Given the description of an element on the screen output the (x, y) to click on. 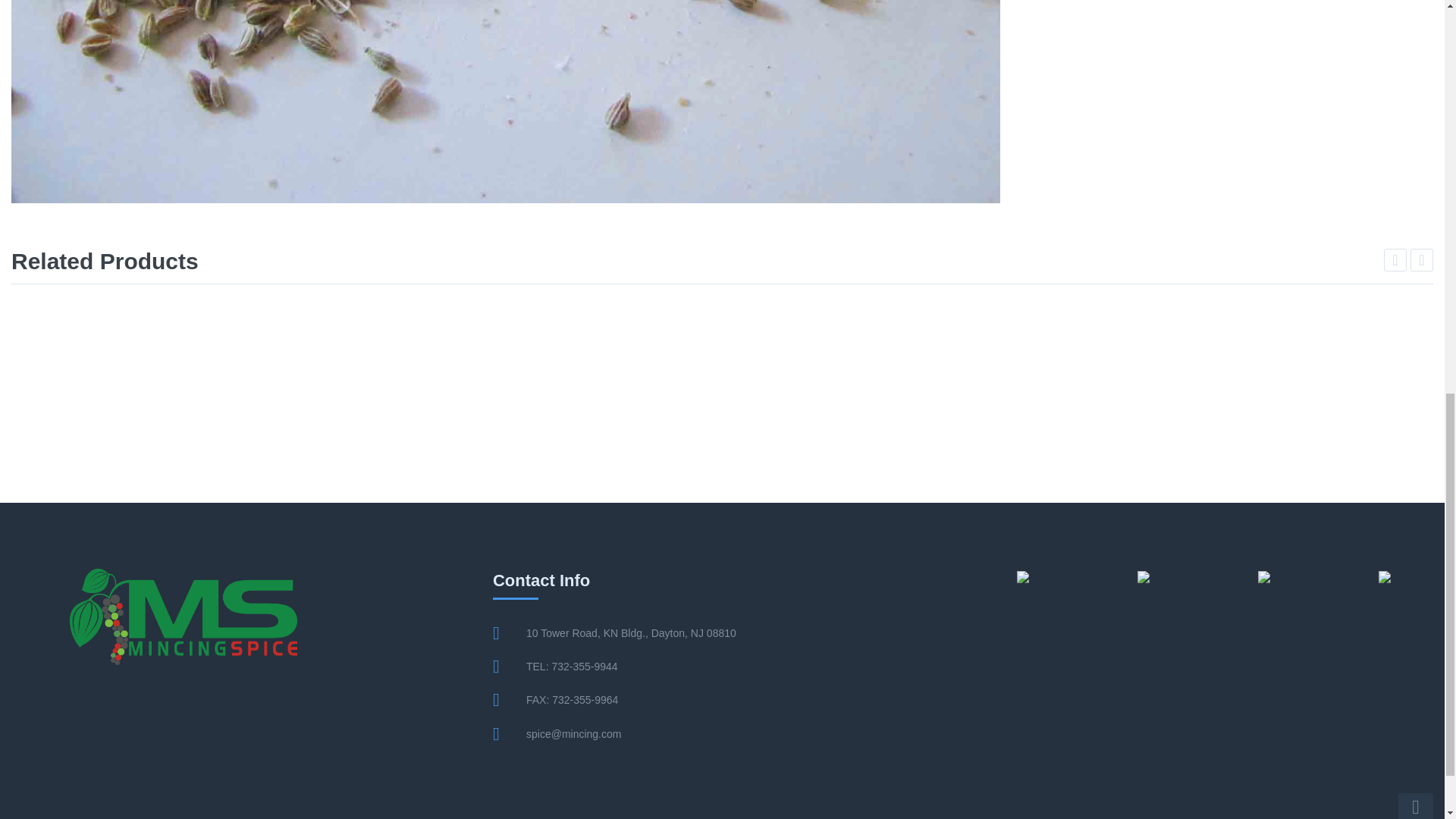
Logo (183, 616)
